Given the description of an element on the screen output the (x, y) to click on. 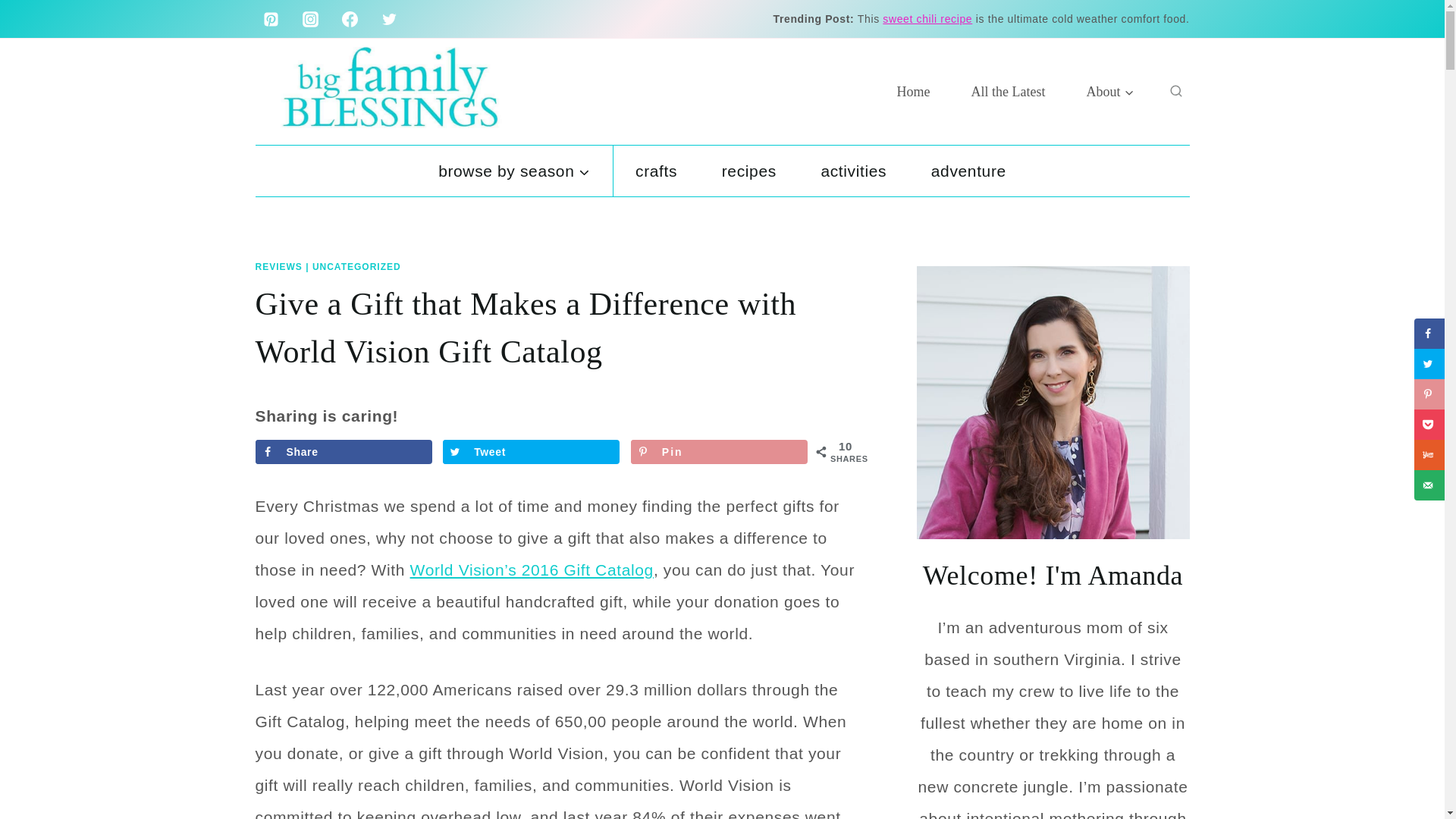
sweet chili recipe (927, 19)
adventure (967, 170)
recipes (747, 170)
All the Latest (1007, 91)
crafts (656, 170)
activities (852, 170)
Save to Pinterest (719, 451)
About (1109, 91)
Share on Facebook (342, 451)
Home (913, 91)
